Given the description of an element on the screen output the (x, y) to click on. 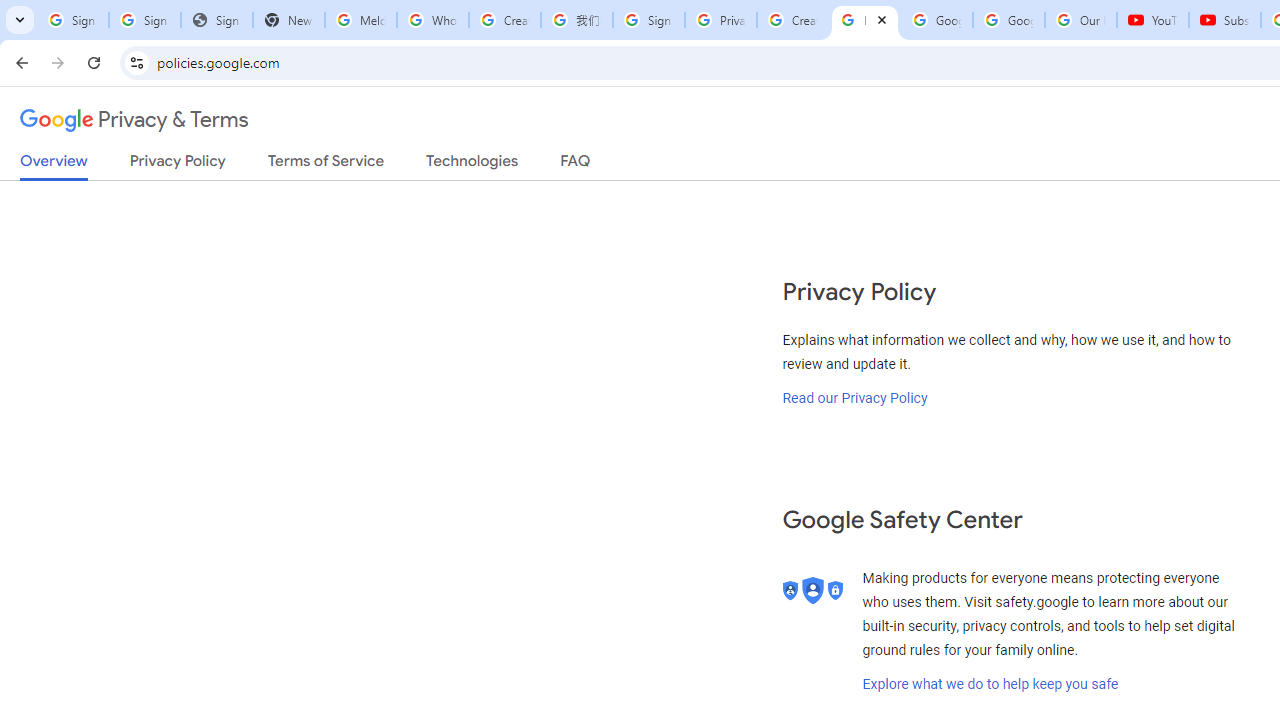
Subscriptions - YouTube (1224, 20)
Sign in - Google Accounts (144, 20)
Create your Google Account (792, 20)
Explore what we do to help keep you safe (989, 683)
Sign In - USA TODAY (216, 20)
Read our Privacy Policy (855, 397)
